Given the description of an element on the screen output the (x, y) to click on. 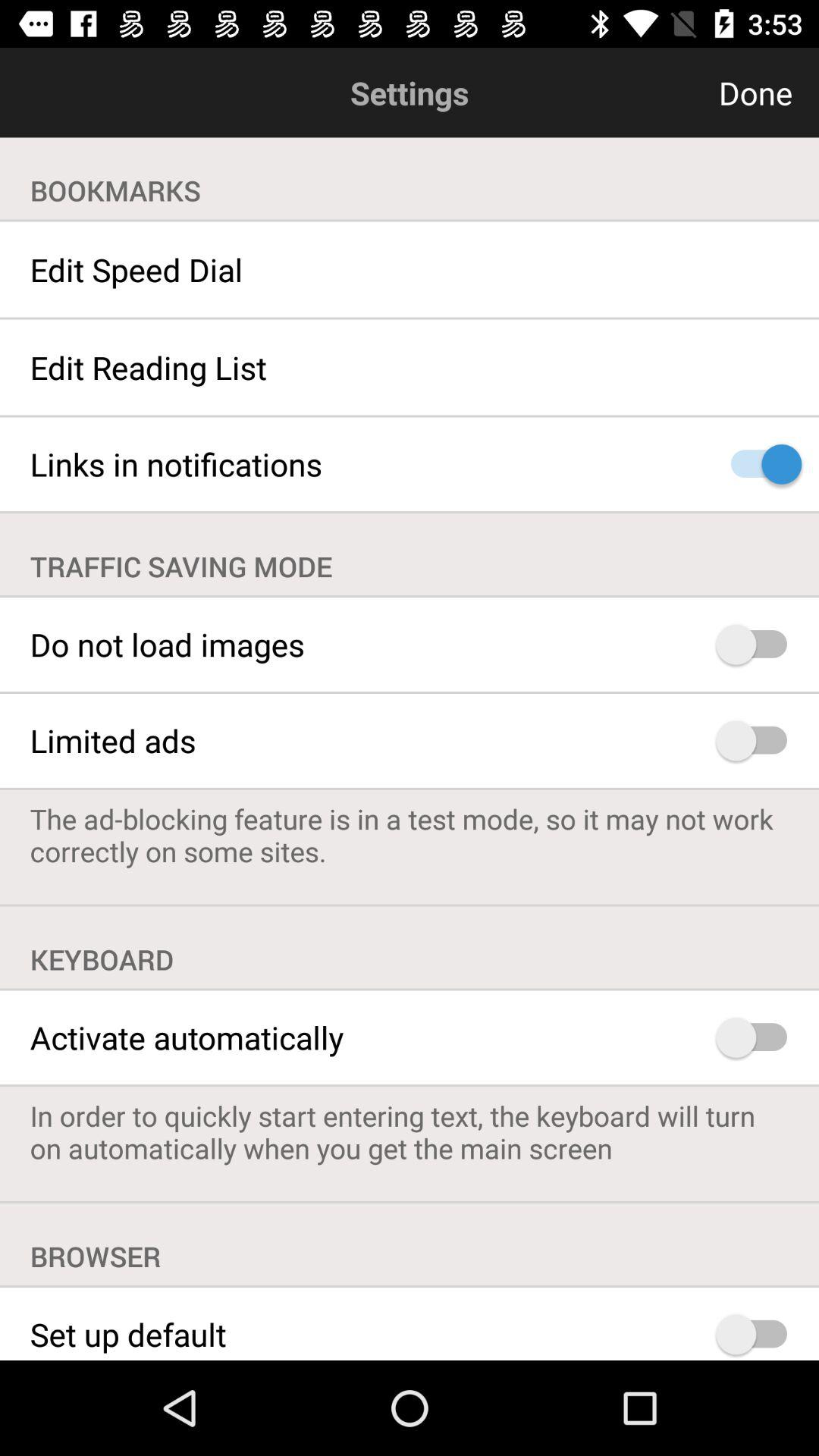
turn off the icon below the bookmarks item (409, 269)
